Given the description of an element on the screen output the (x, y) to click on. 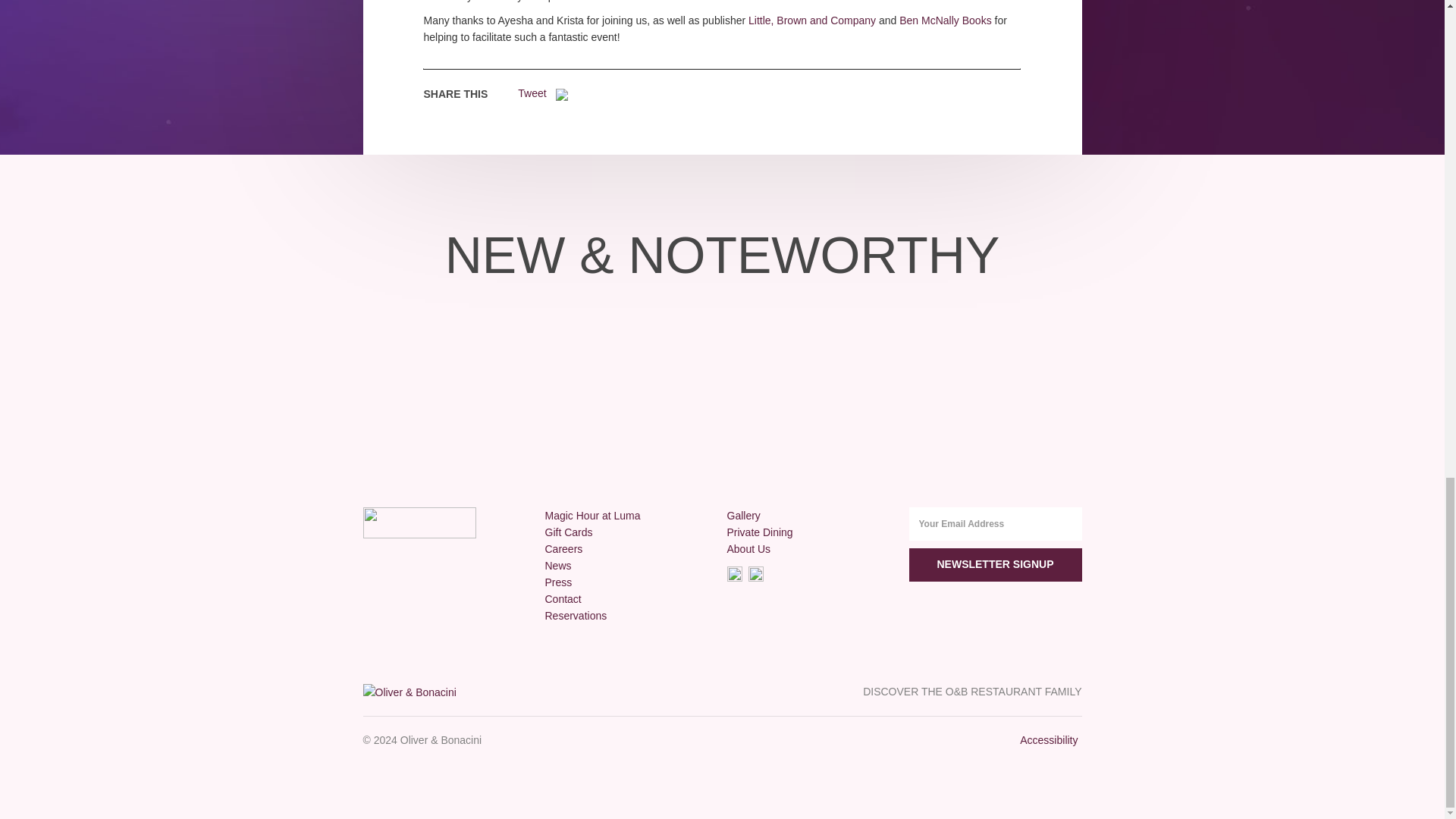
Little, Brown and Company (812, 20)
Ben McNally Books (945, 20)
Tweet (532, 92)
Newsletter Signup (994, 564)
